Given the description of an element on the screen output the (x, y) to click on. 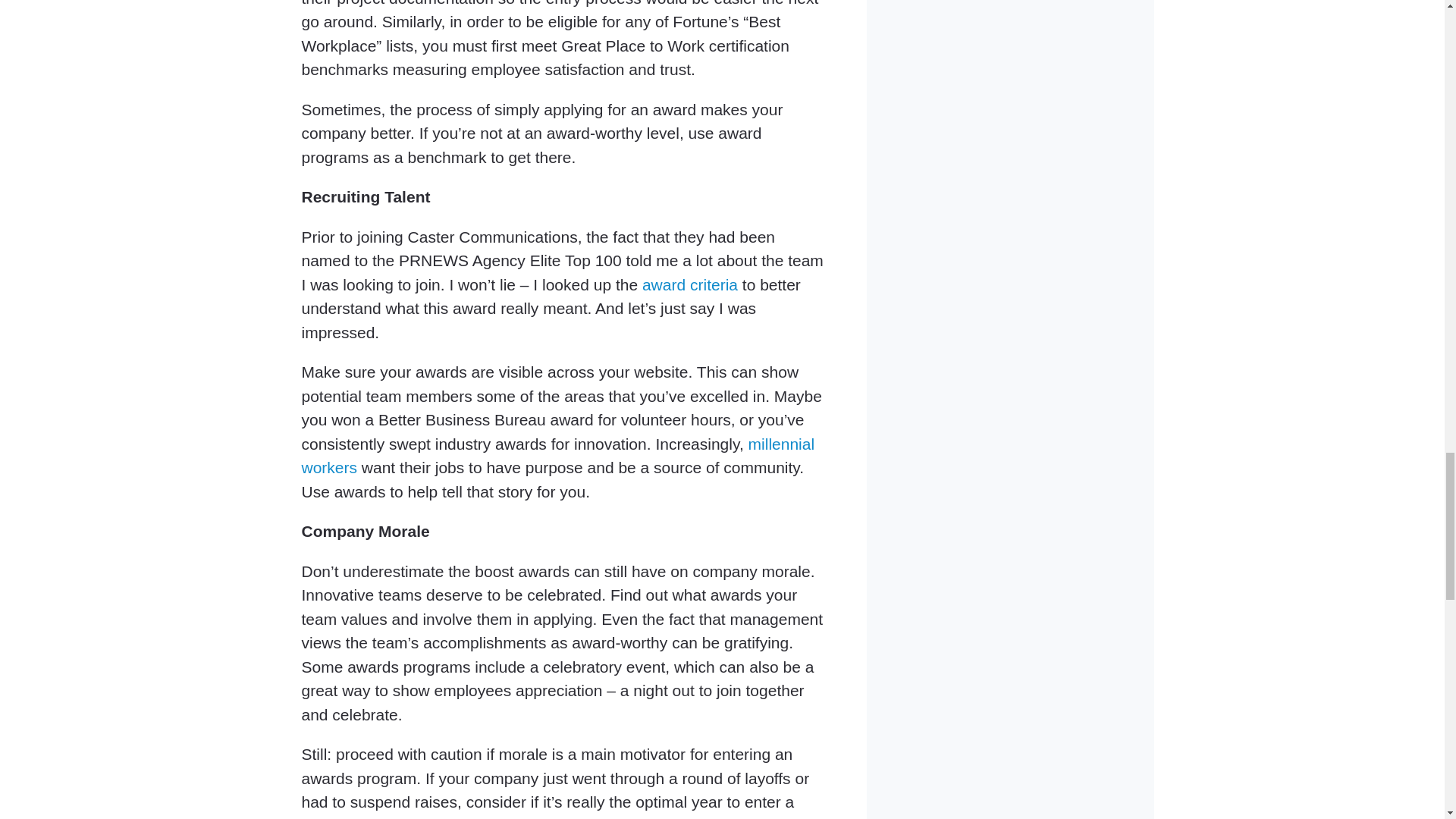
award criteria (690, 284)
millennial workers (558, 455)
